Given the description of an element on the screen output the (x, y) to click on. 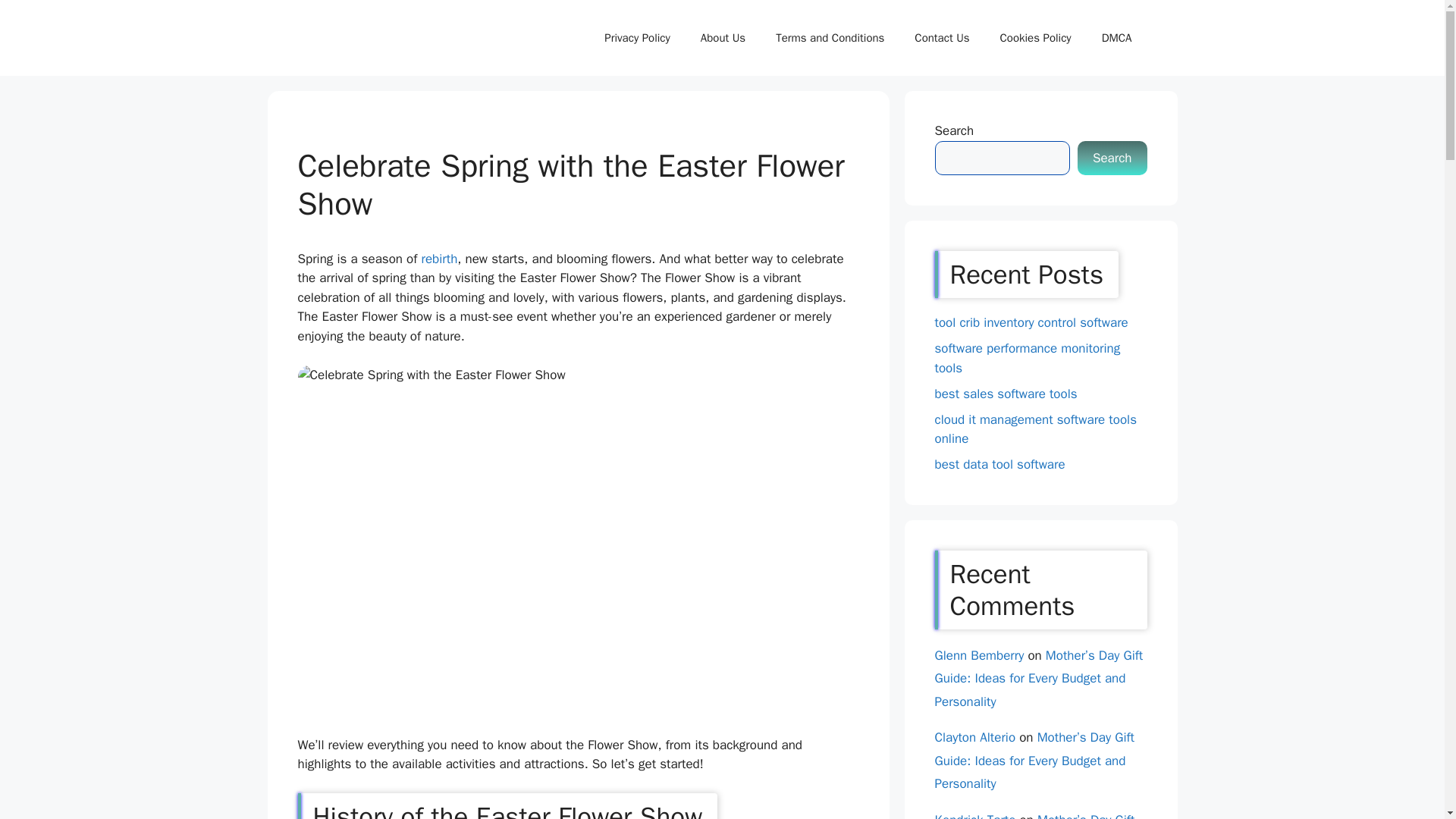
Terms and Conditions (829, 37)
About Us (722, 37)
Contact Us (941, 37)
Cookies Policy (1035, 37)
rebirth (438, 258)
Privacy Policy (637, 37)
DMCA (1116, 37)
